Given the description of an element on the screen output the (x, y) to click on. 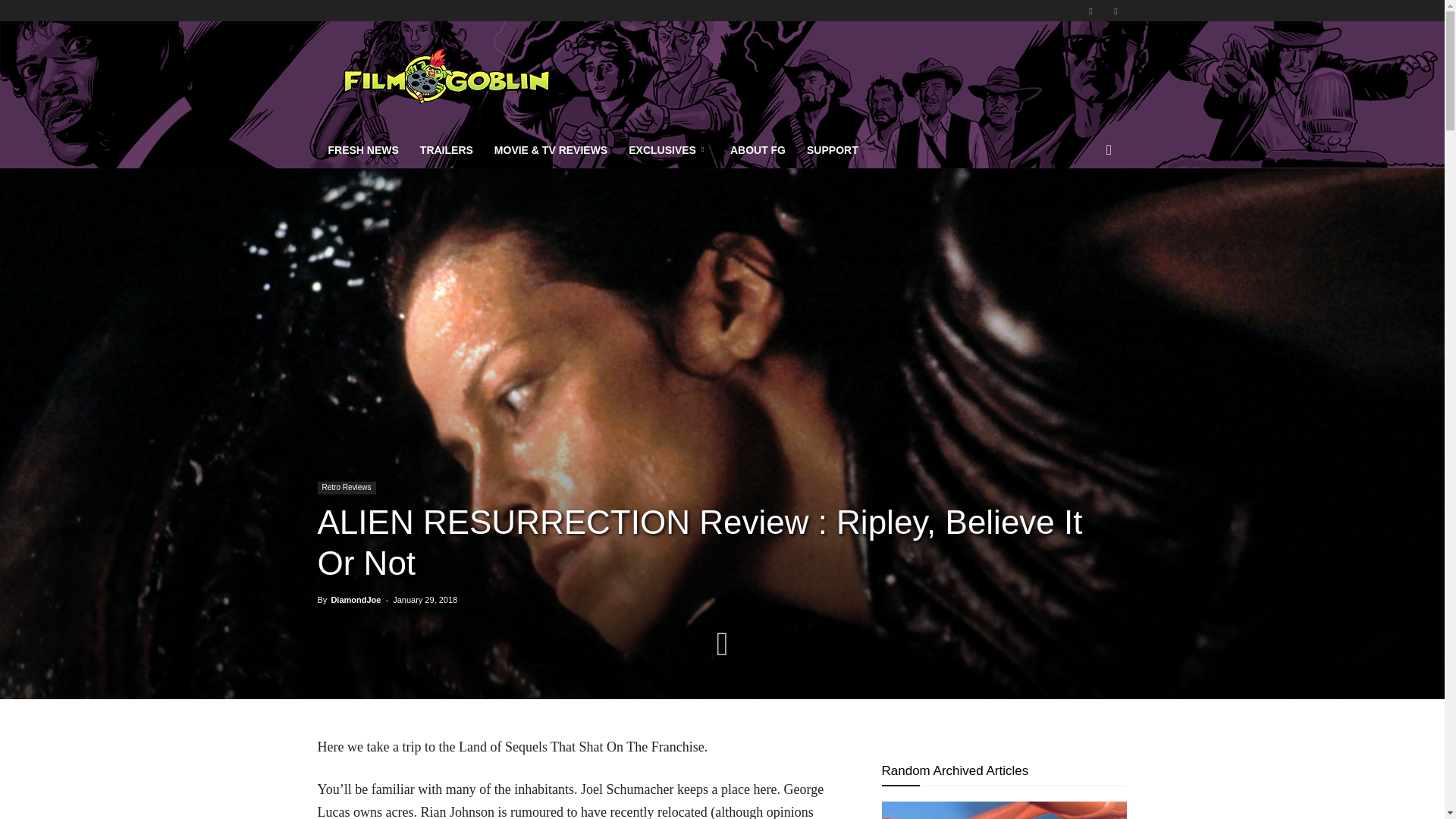
Twitter (1114, 10)
Facebook (1090, 10)
Film Goblin (445, 76)
